Given the description of an element on the screen output the (x, y) to click on. 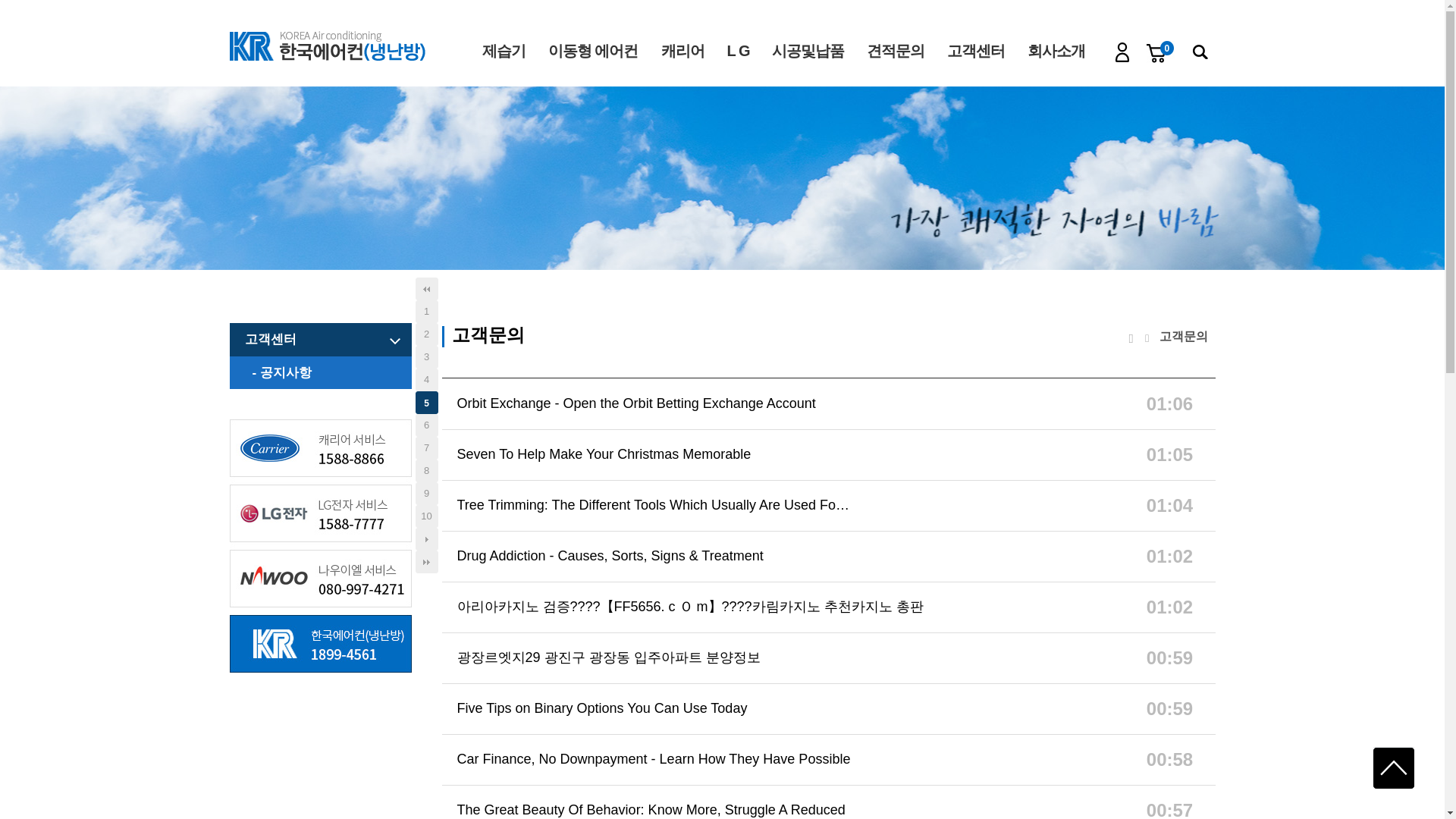
L G (737, 50)
